Given the description of an element on the screen output the (x, y) to click on. 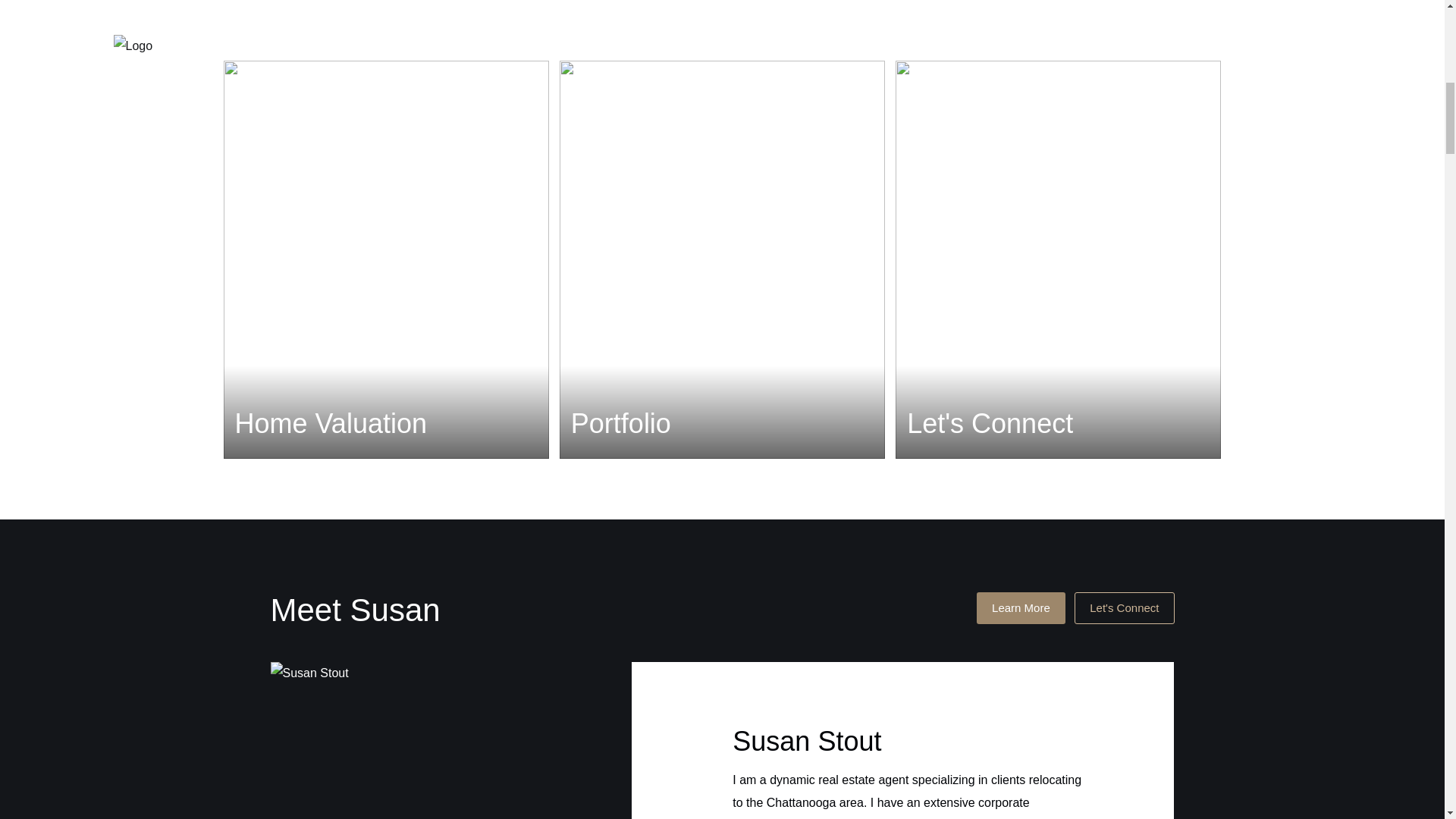
Learn More (1020, 608)
Let'S Connect (1123, 608)
